Given the description of an element on the screen output the (x, y) to click on. 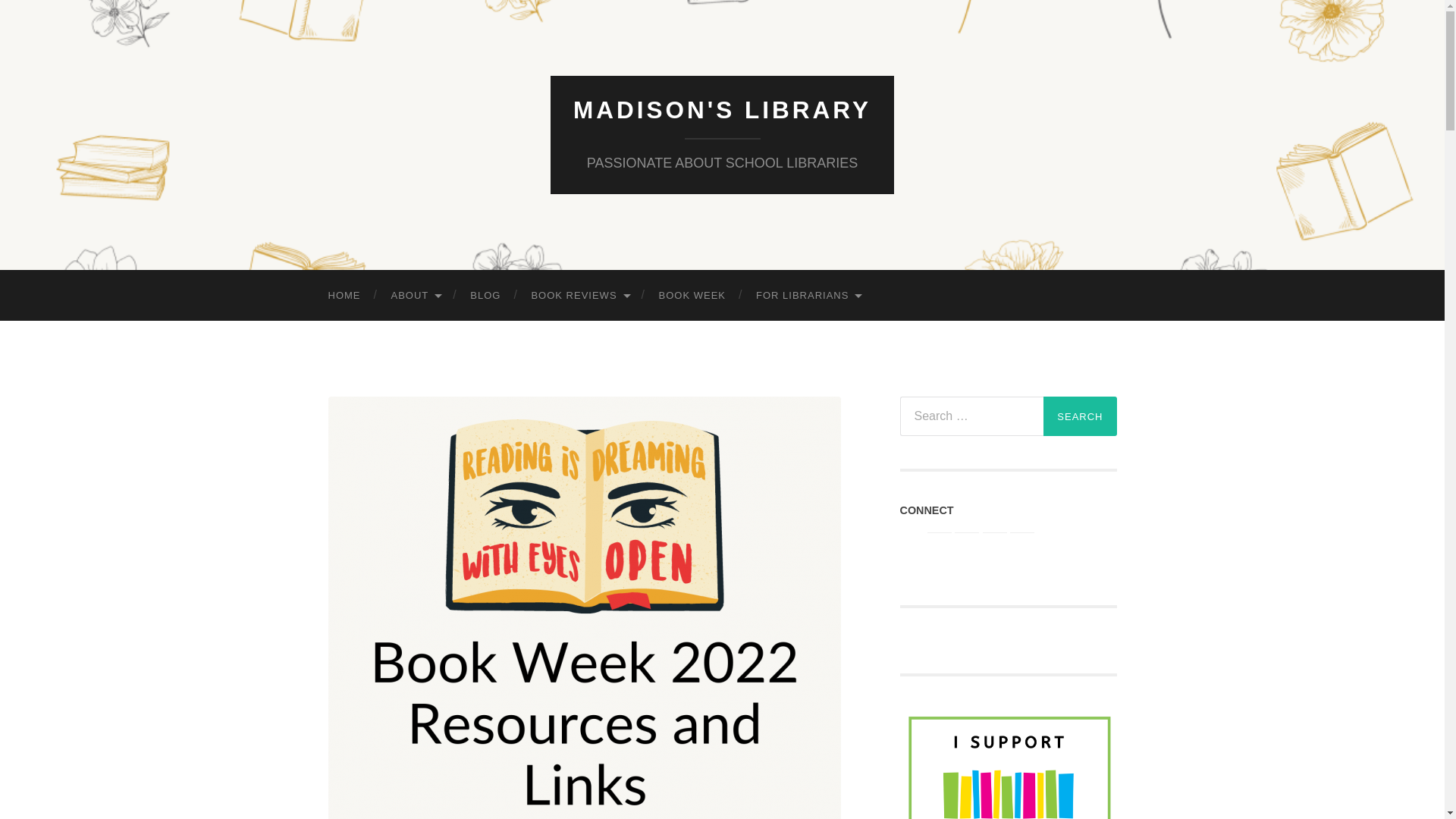
BOOK REVIEWS (579, 295)
Search (1079, 415)
ABOUT (415, 295)
BLOG (484, 295)
FOR LIBRARIANS (808, 295)
HOME (344, 295)
MADISON'S LIBRARY (721, 109)
BOOK WEEK (692, 295)
Search (1079, 415)
